Given the description of an element on the screen output the (x, y) to click on. 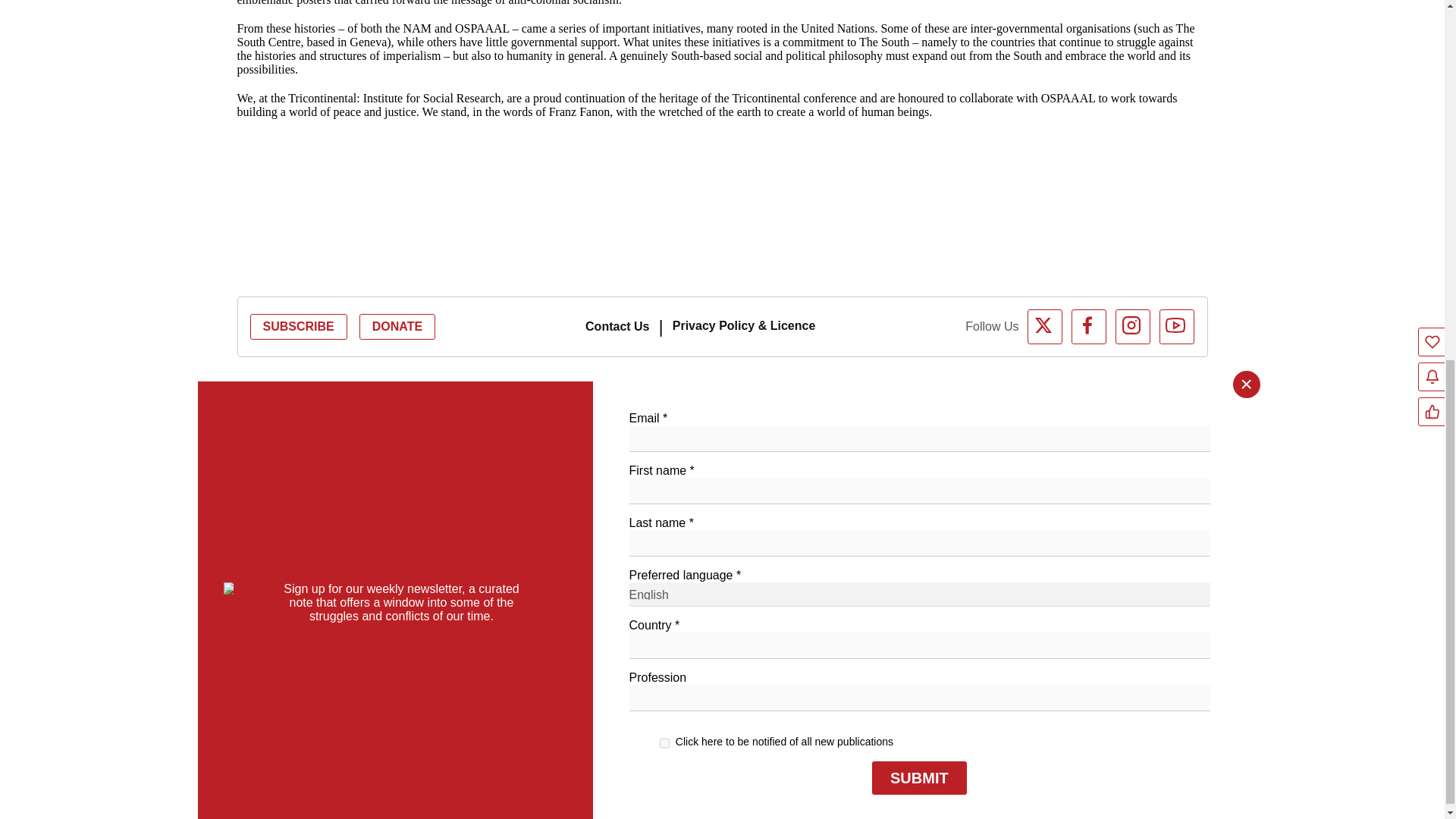
Follow us on Facebook (1088, 326)
Follow us on Instagram (1132, 326)
Follow us on Youtube (1175, 326)
Follow us on X (1044, 326)
